Given the description of an element on the screen output the (x, y) to click on. 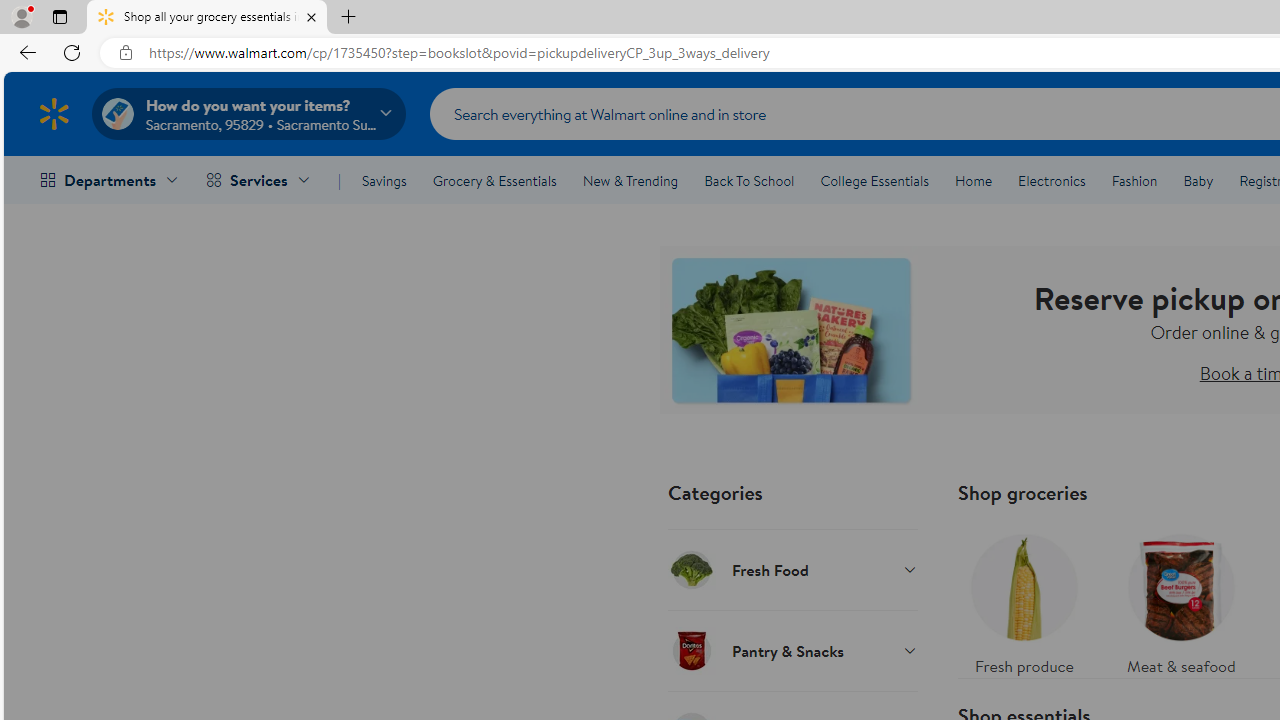
Electronics (1051, 180)
Fresh produce (1023, 599)
New & Trending (630, 180)
Baby (1197, 180)
Grocery & Essentials (493, 180)
Fresh Food (792, 569)
Fashion (1134, 180)
